Given the description of an element on the screen output the (x, y) to click on. 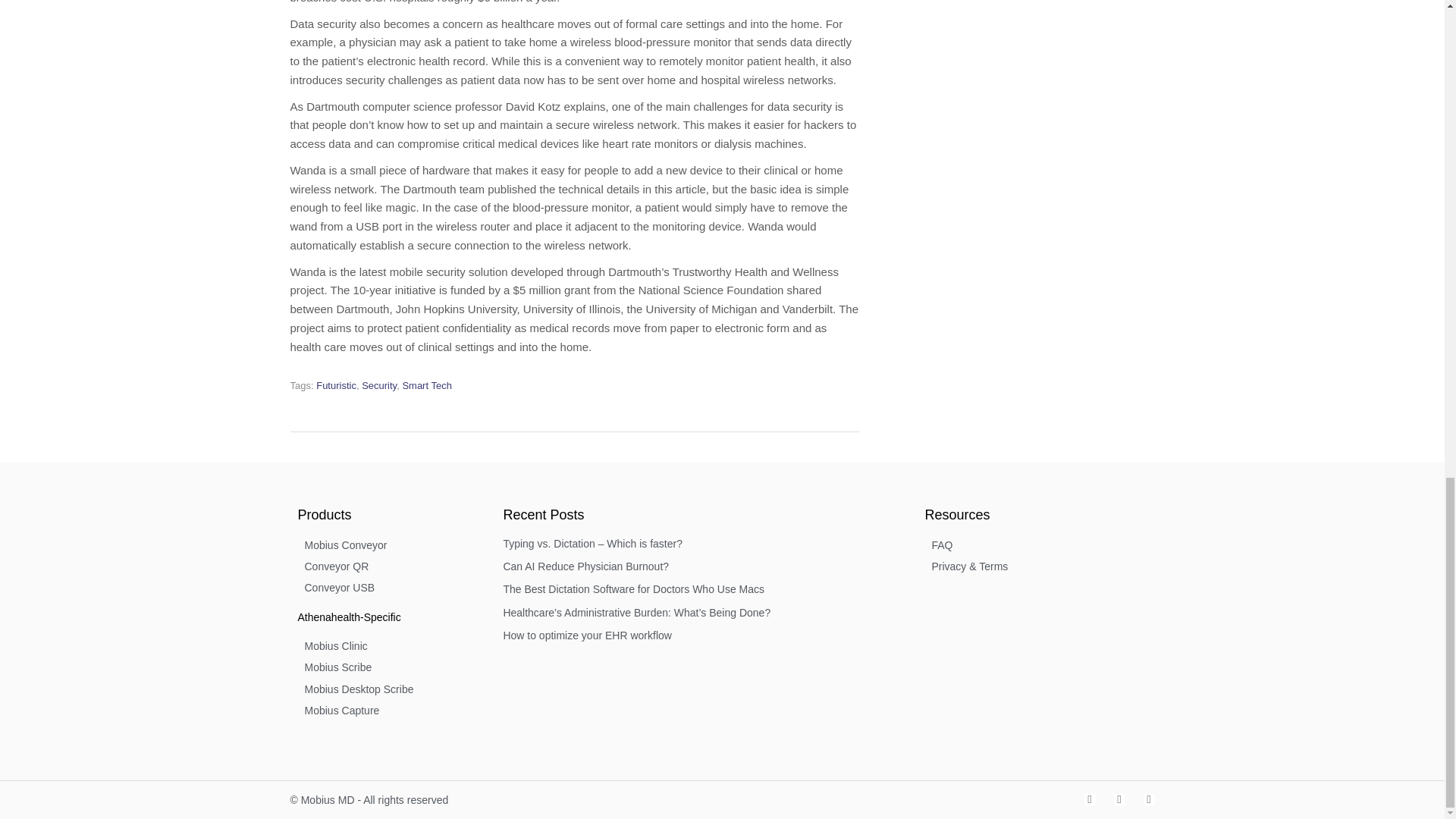
Security (378, 385)
Futuristic (335, 385)
Smart Tech (426, 385)
